Given the description of an element on the screen output the (x, y) to click on. 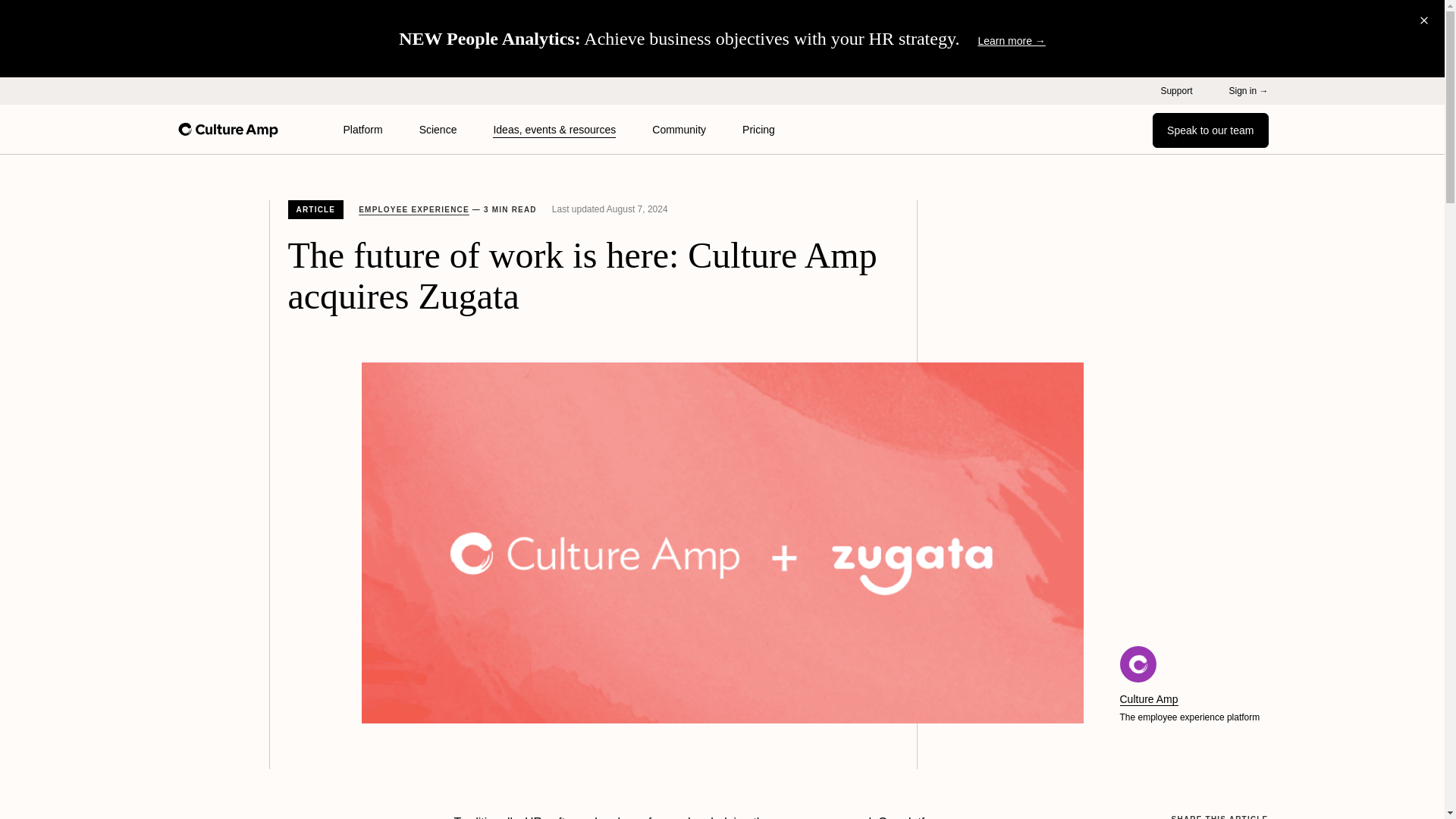
Support (1176, 90)
Platform (362, 129)
Science (438, 129)
